Given the description of an element on the screen output the (x, y) to click on. 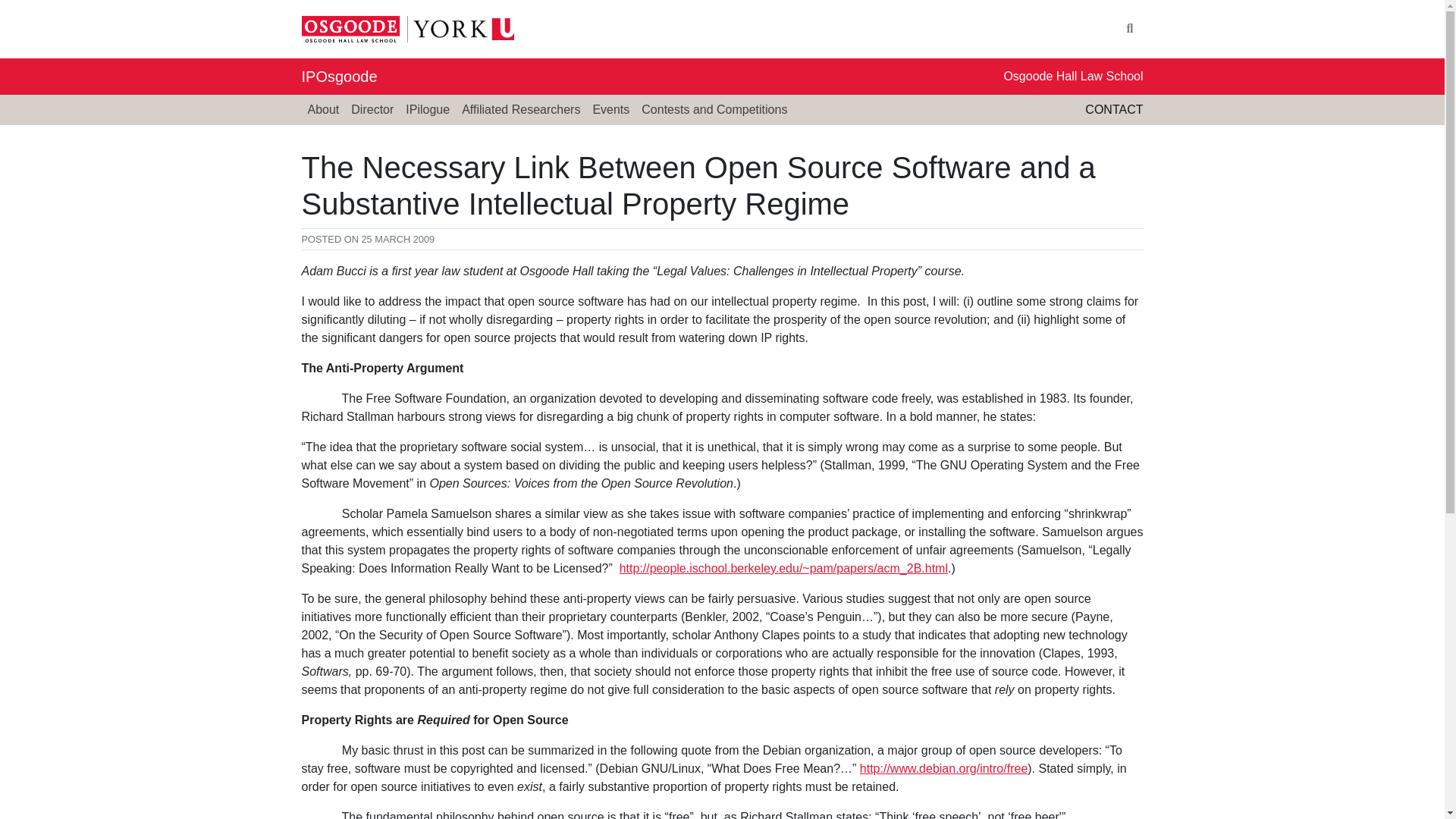
IPilogue (426, 110)
Events (610, 110)
Search (1129, 28)
CONTACT (1113, 109)
IPOsgoode (339, 76)
Director (371, 110)
Contests and Competitions (713, 110)
About (323, 110)
Affiliated Researchers (520, 110)
Osgoode Hall Law School (1072, 75)
